Given the description of an element on the screen output the (x, y) to click on. 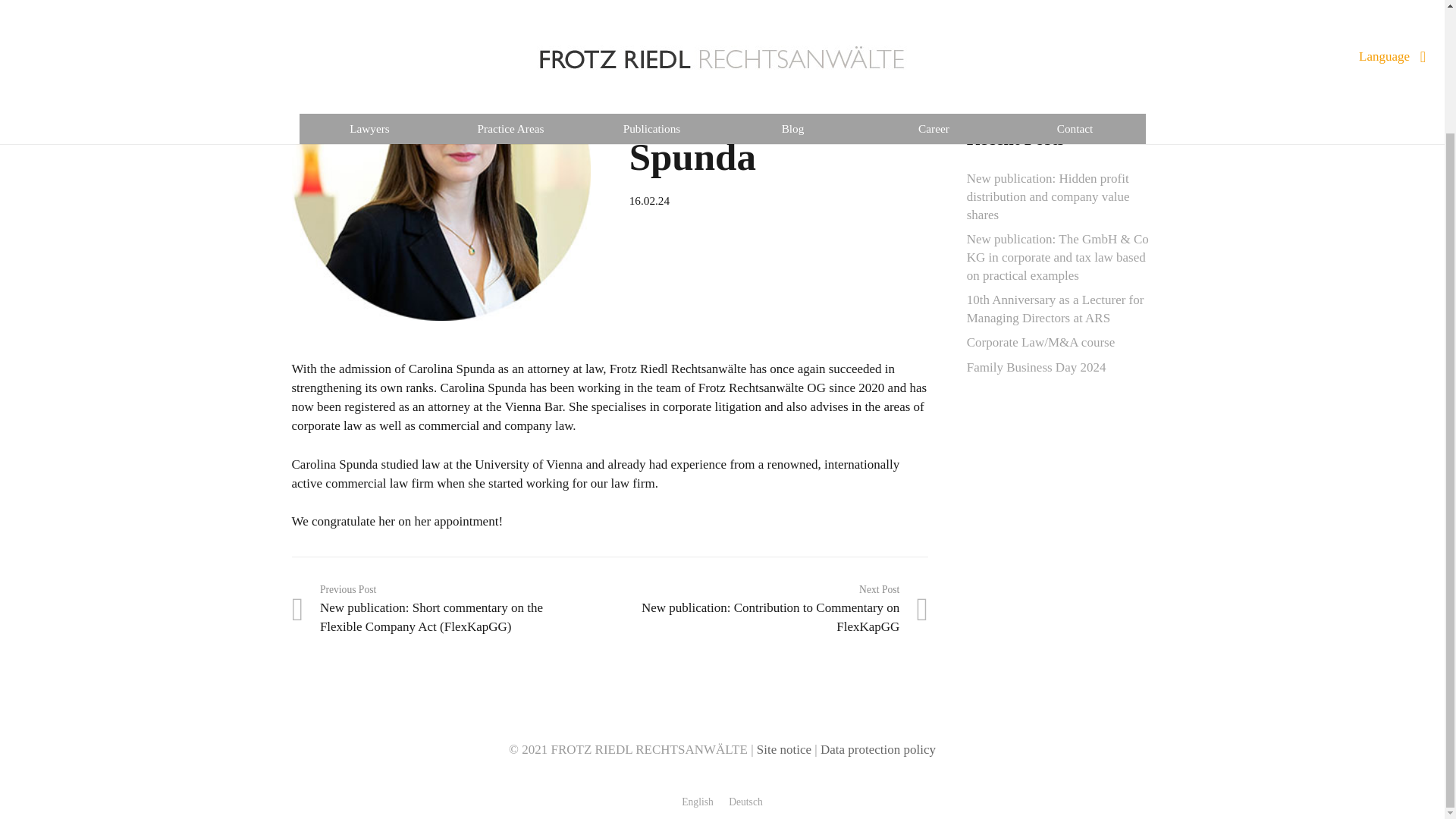
Data protection policy (878, 749)
Family Business Day 2024 (1036, 261)
Site notice (783, 749)
English (697, 801)
10th Anniversary as a Lecturer for Managing Directors at ARS (1055, 203)
Deutsch (745, 801)
New publication: Contribution to Commentary on FlexKapGG (769, 609)
